Given the description of an element on the screen output the (x, y) to click on. 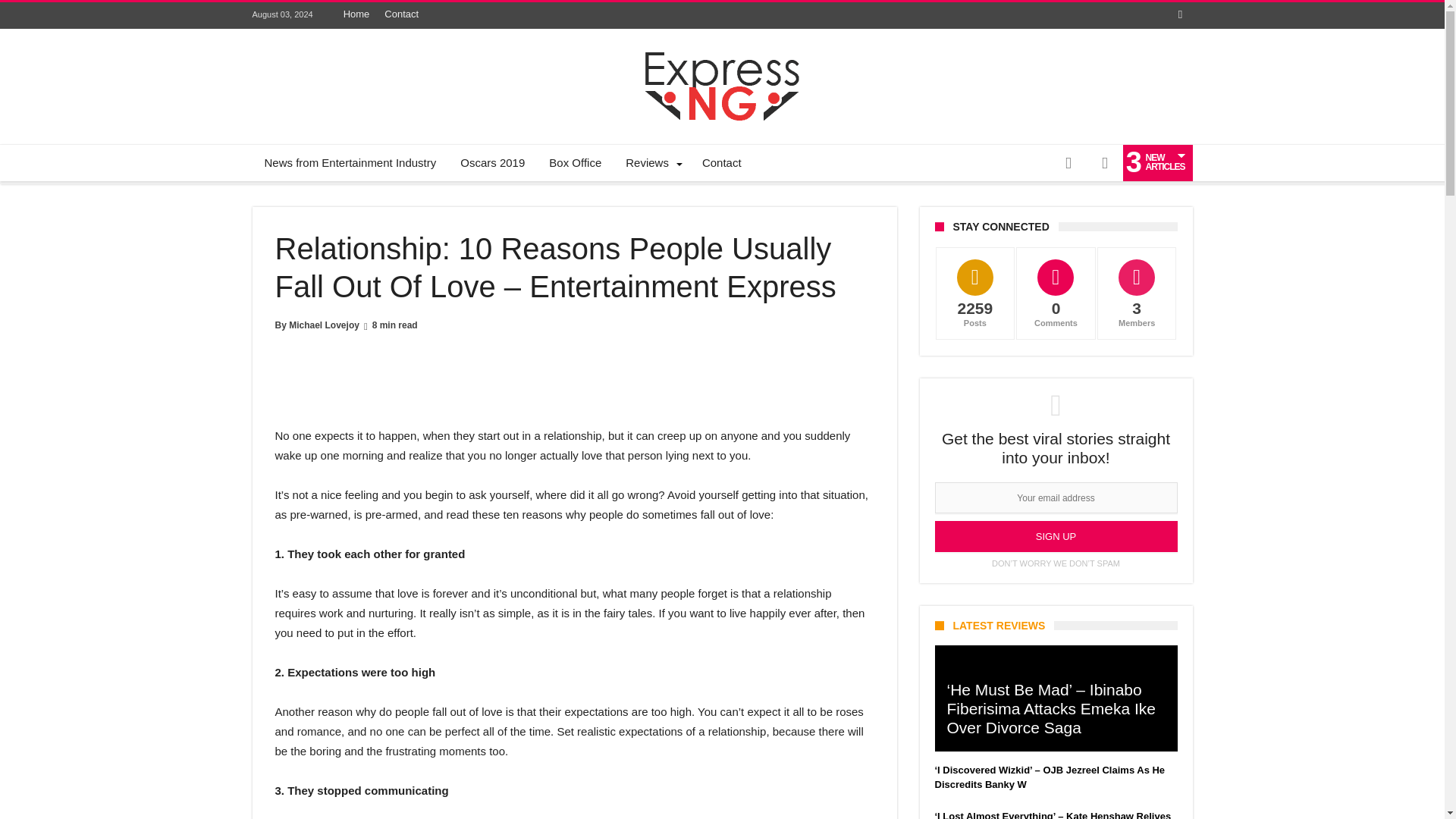
Michael Lovejoy (323, 325)
News from Entertainment Industry (349, 162)
Facebook (1179, 15)
Reviews (651, 162)
Entertainment Express (722, 50)
Oscars 2019 (492, 162)
Box Office (574, 162)
Contact (722, 162)
Contact (401, 14)
Sign up (1055, 536)
Home (356, 14)
